Given the description of an element on the screen output the (x, y) to click on. 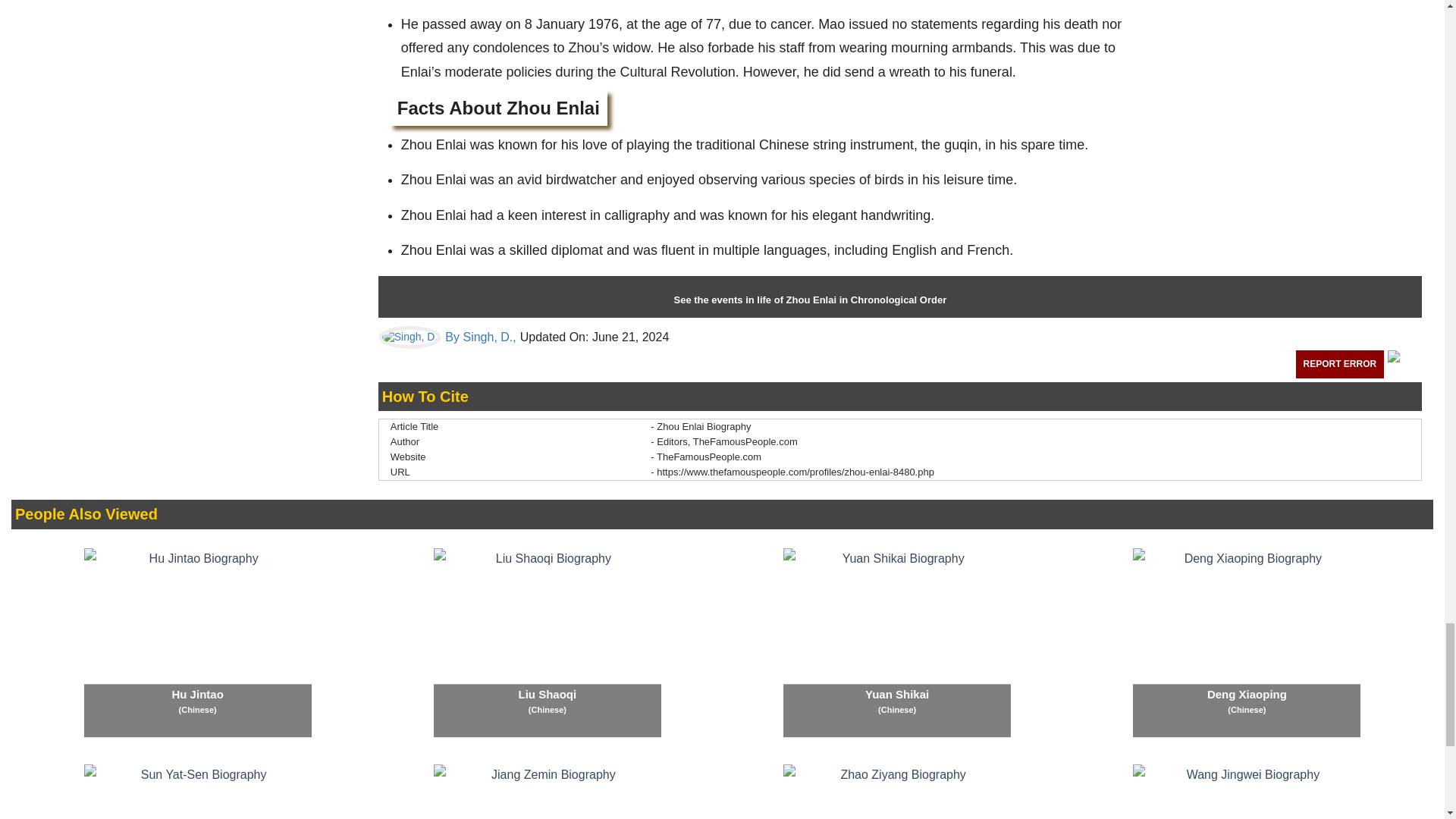
Yuan Shikai (896, 642)
Jiang Zemin (547, 791)
Deng Xiaoping (1245, 642)
Sun Yat-Sen (197, 791)
Zhao Ziyang (896, 791)
Wang Jingwei (1245, 791)
Liu Shaoqi (547, 642)
Hu Jintao (197, 642)
